Given the description of an element on the screen output the (x, y) to click on. 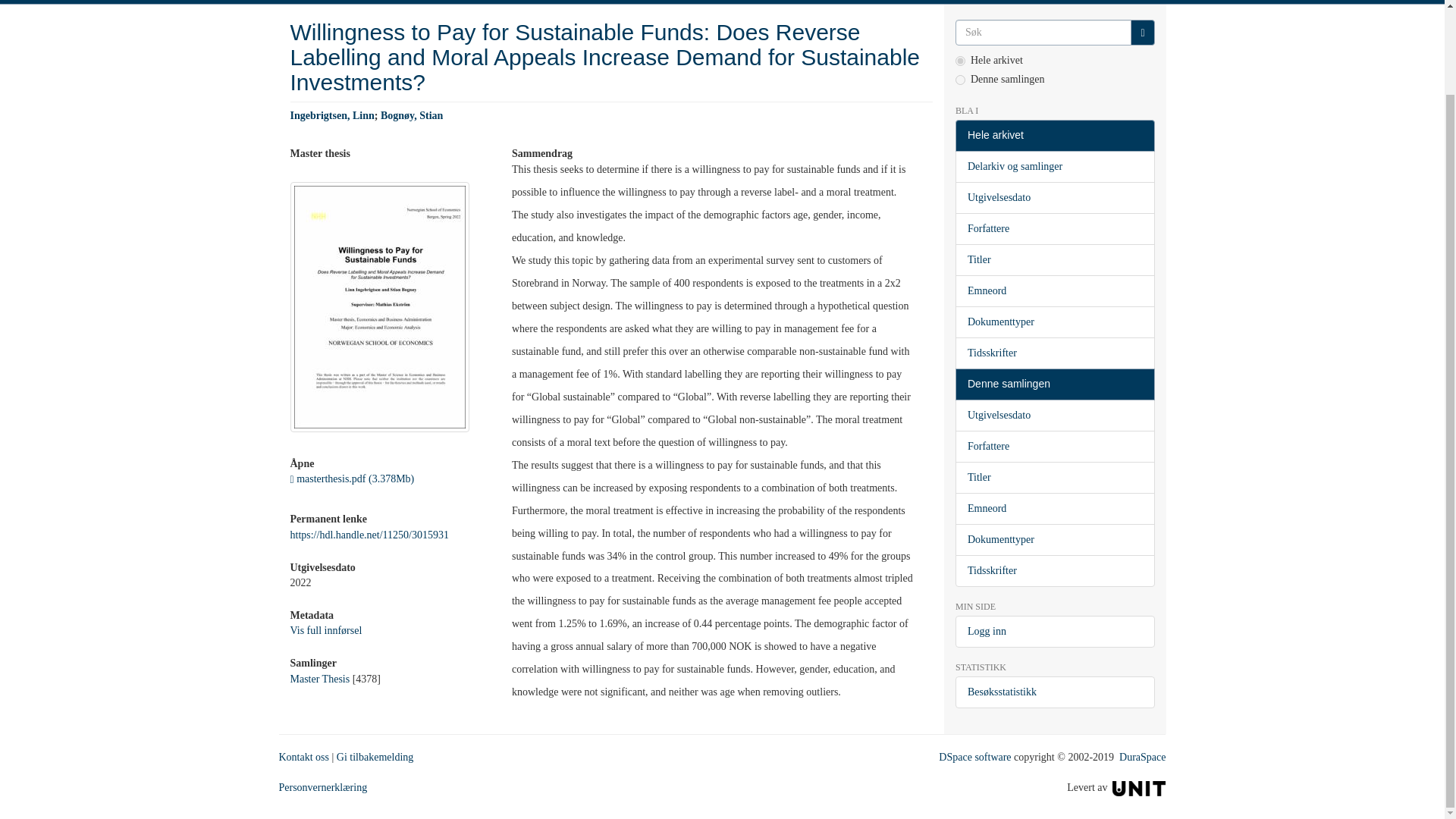
Hele arkivet (1054, 135)
Utgivelsesdato (1054, 197)
Ingebrigtsen, Linn (331, 115)
Titler (1054, 260)
Master Thesis (319, 678)
Unit (1139, 787)
Delarkiv og samlinger (1054, 166)
Forfattere (1054, 228)
